Given the description of an element on the screen output the (x, y) to click on. 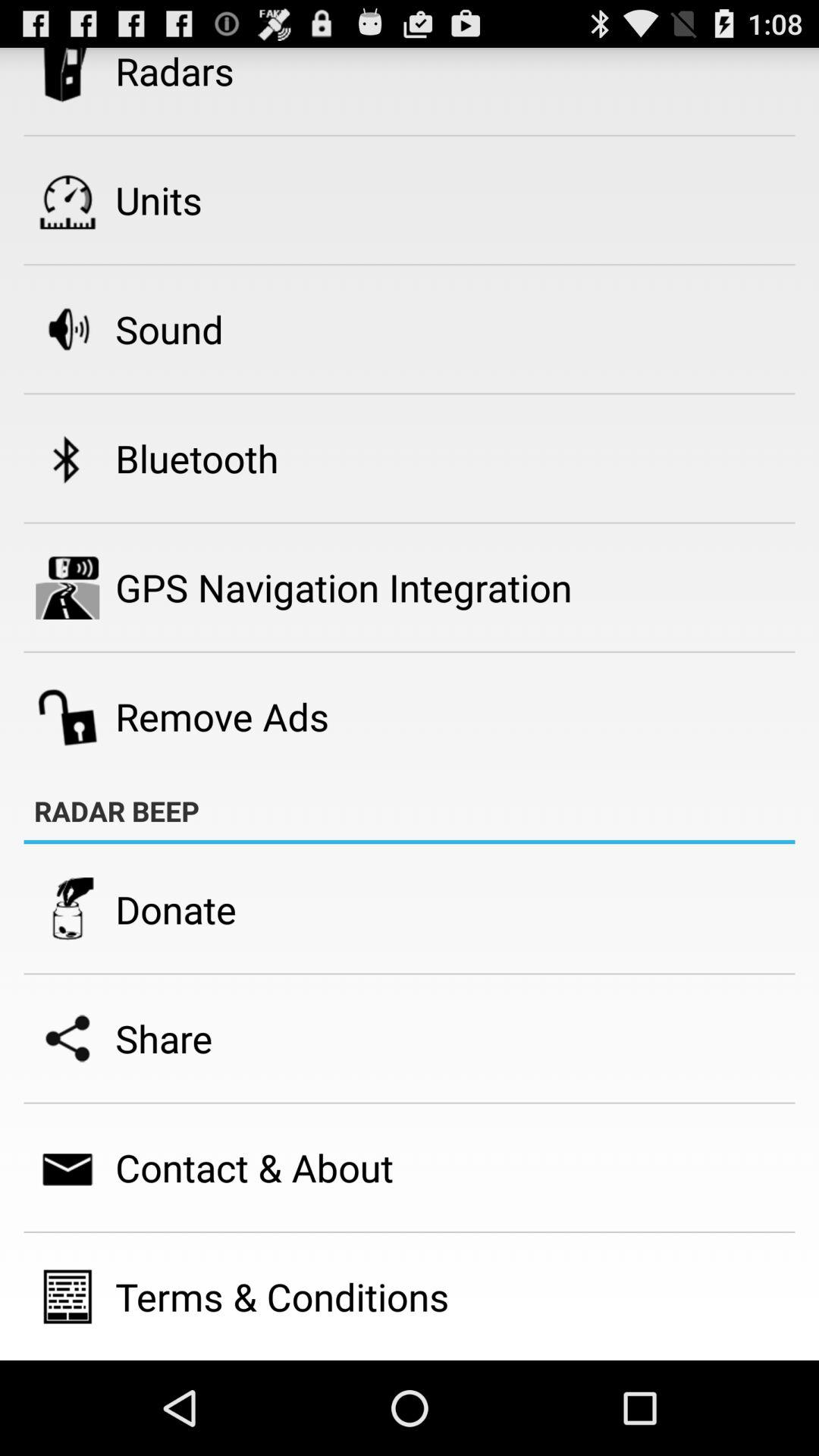
press the sound icon (169, 328)
